Given the description of an element on the screen output the (x, y) to click on. 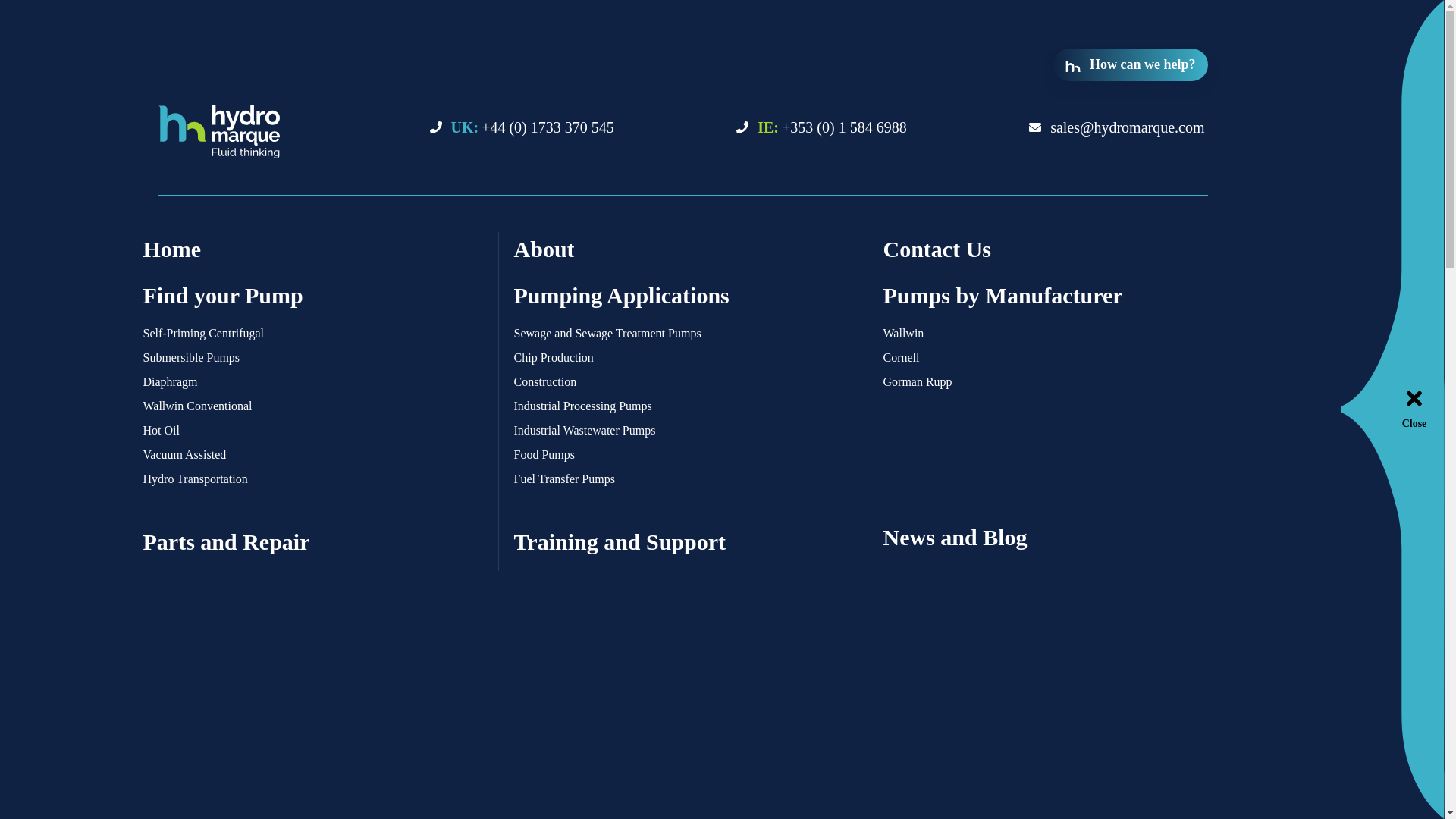
Fuel Transfer Pumps (682, 479)
Gorman Rupp (1053, 382)
Sewage and Sewage Treatment Pumps (279, 466)
Hydro Transportation (311, 479)
How can we help? (1324, 39)
Industrial Wastewater Pumps (548, 466)
News and Blog (1053, 537)
Hydromarque (279, 131)
Sewage and Sewage Treatment Pumps (268, 595)
Find your Pump (311, 295)
